Given the description of an element on the screen output the (x, y) to click on. 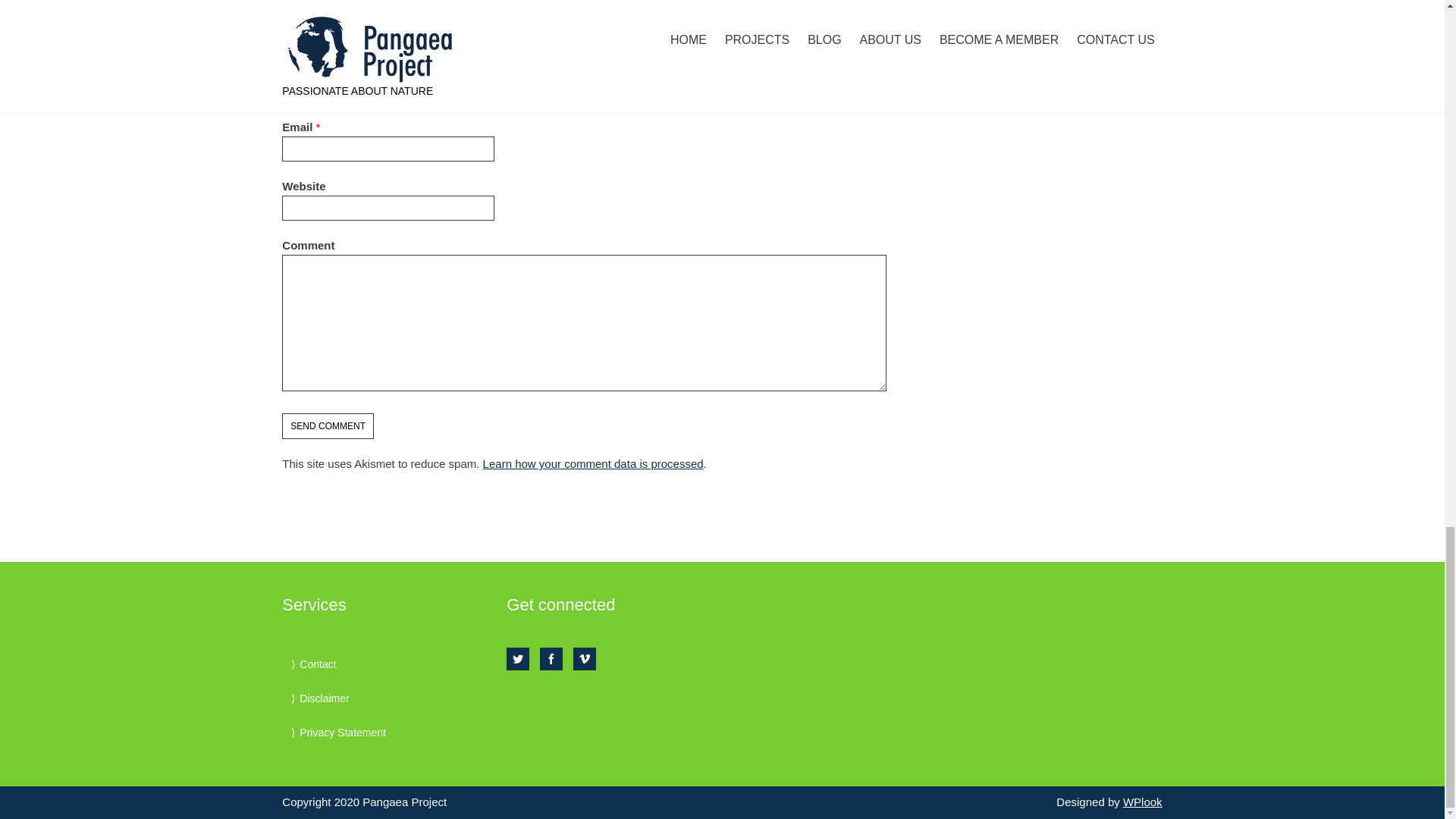
Send Comment (328, 425)
WPlook (1141, 801)
